Given the description of an element on the screen output the (x, y) to click on. 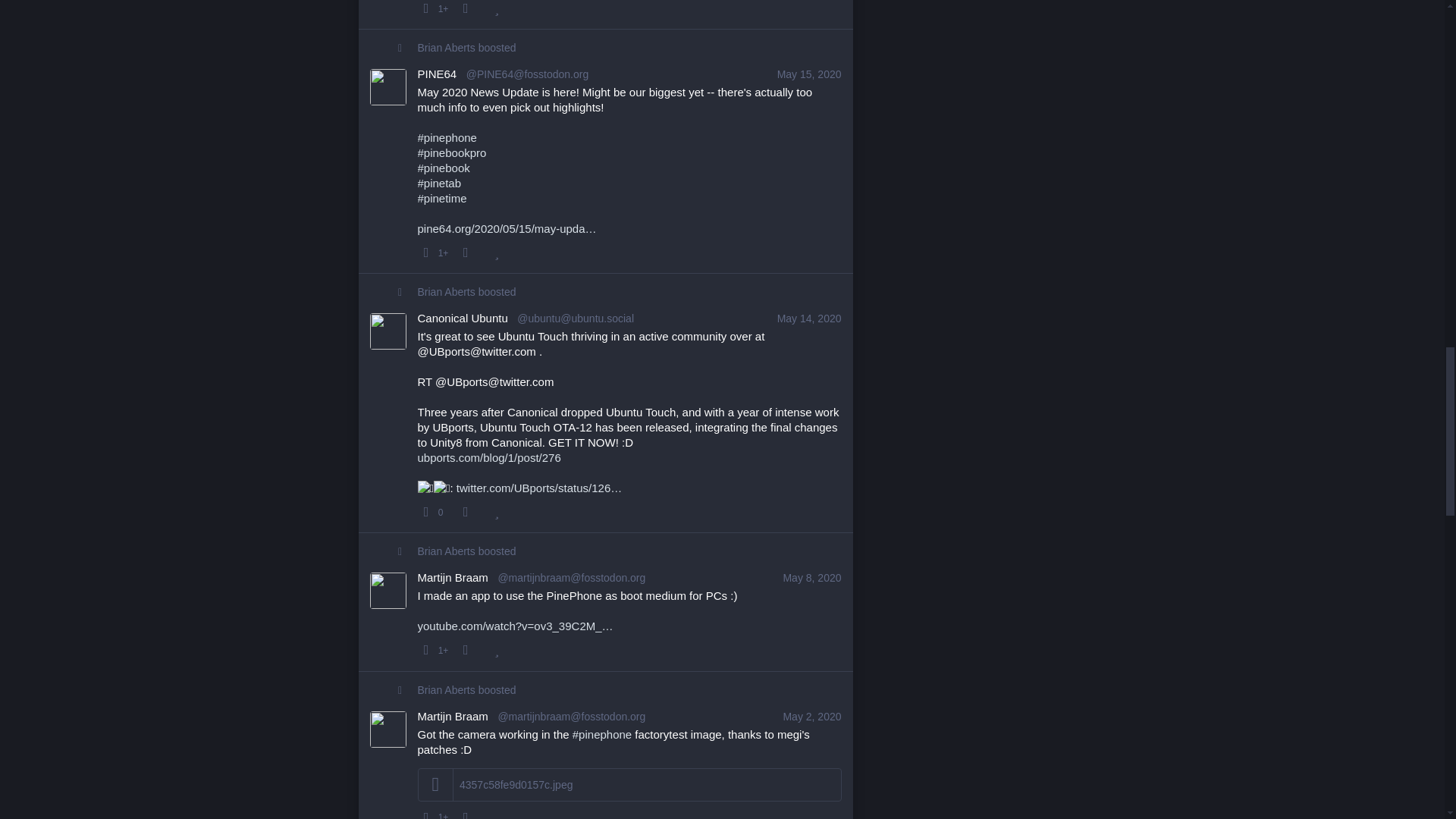
May 2, 2020 at 12:03 AM (812, 716)
:link: (441, 488)
May 8, 2020 at 10:37 PM (812, 577)
May 15, 2020 at 11:30 PM (809, 73)
:bird: (424, 488)
May 14, 2020 at 5:38 AM (809, 318)
